Given the description of an element on the screen output the (x, y) to click on. 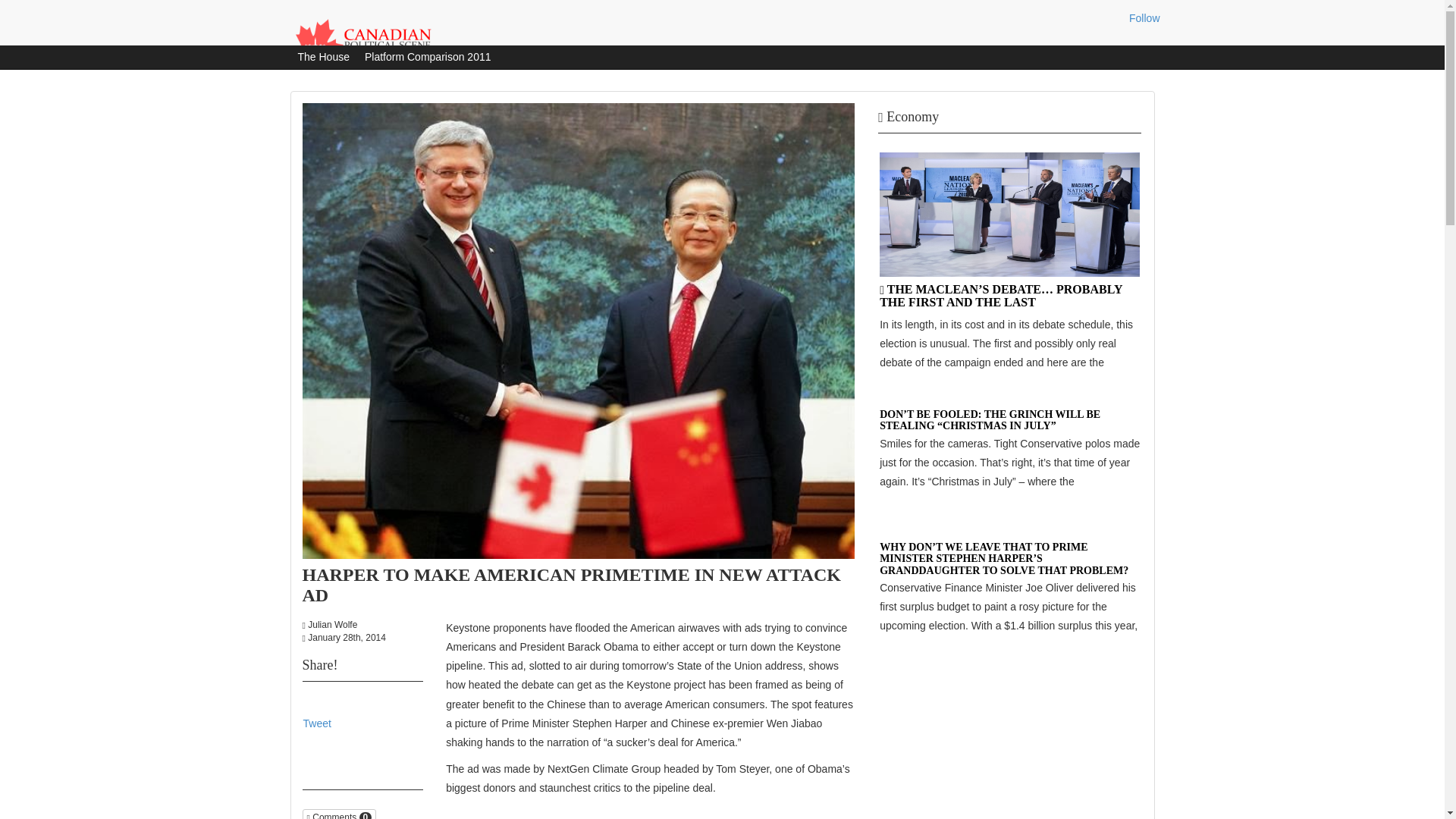
Follow (1143, 18)
The House (322, 57)
Comments 0 (338, 814)
Platform Comparison 2011 (427, 57)
Platform Comparison 2011 (427, 57)
The House (322, 57)
Tweet (316, 723)
